Given the description of an element on the screen output the (x, y) to click on. 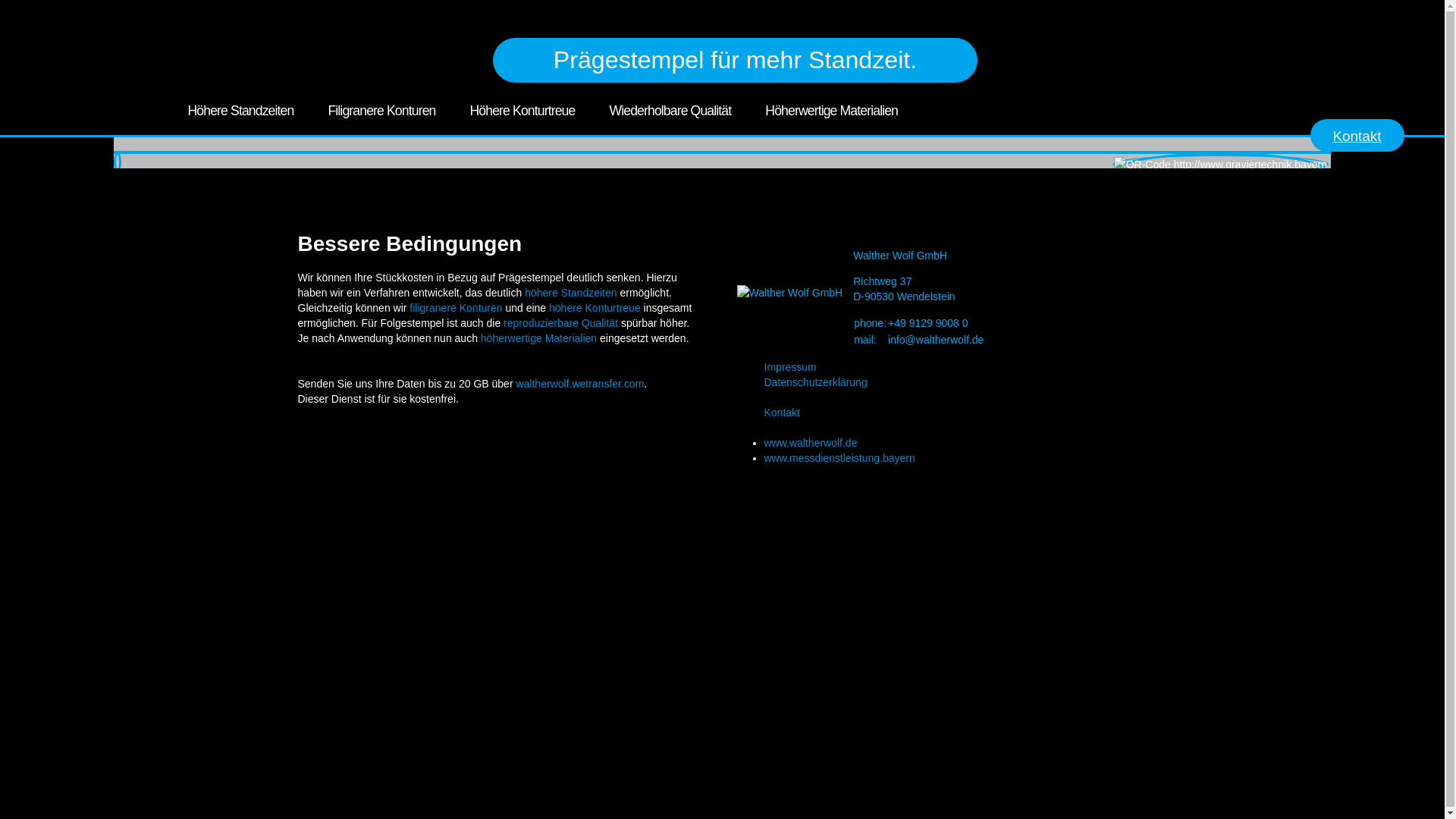
Filigranere Konturen Element type: text (381, 110)
www.messdienstleistung.bayern Element type: text (839, 457)
Kontakt Element type: text (1357, 135)
Kontakt Element type: text (965, 412)
filigranere Konturen Element type: text (455, 307)
Impressum Element type: text (965, 366)
www.waltherwolf.de Element type: text (810, 442)
info@waltherwolf.de Element type: text (935, 339)
Walther Wolf GmbH Element type: hover (790, 292)
waltherwolf.wetransfer.com Element type: text (579, 383)
